Given the description of an element on the screen output the (x, y) to click on. 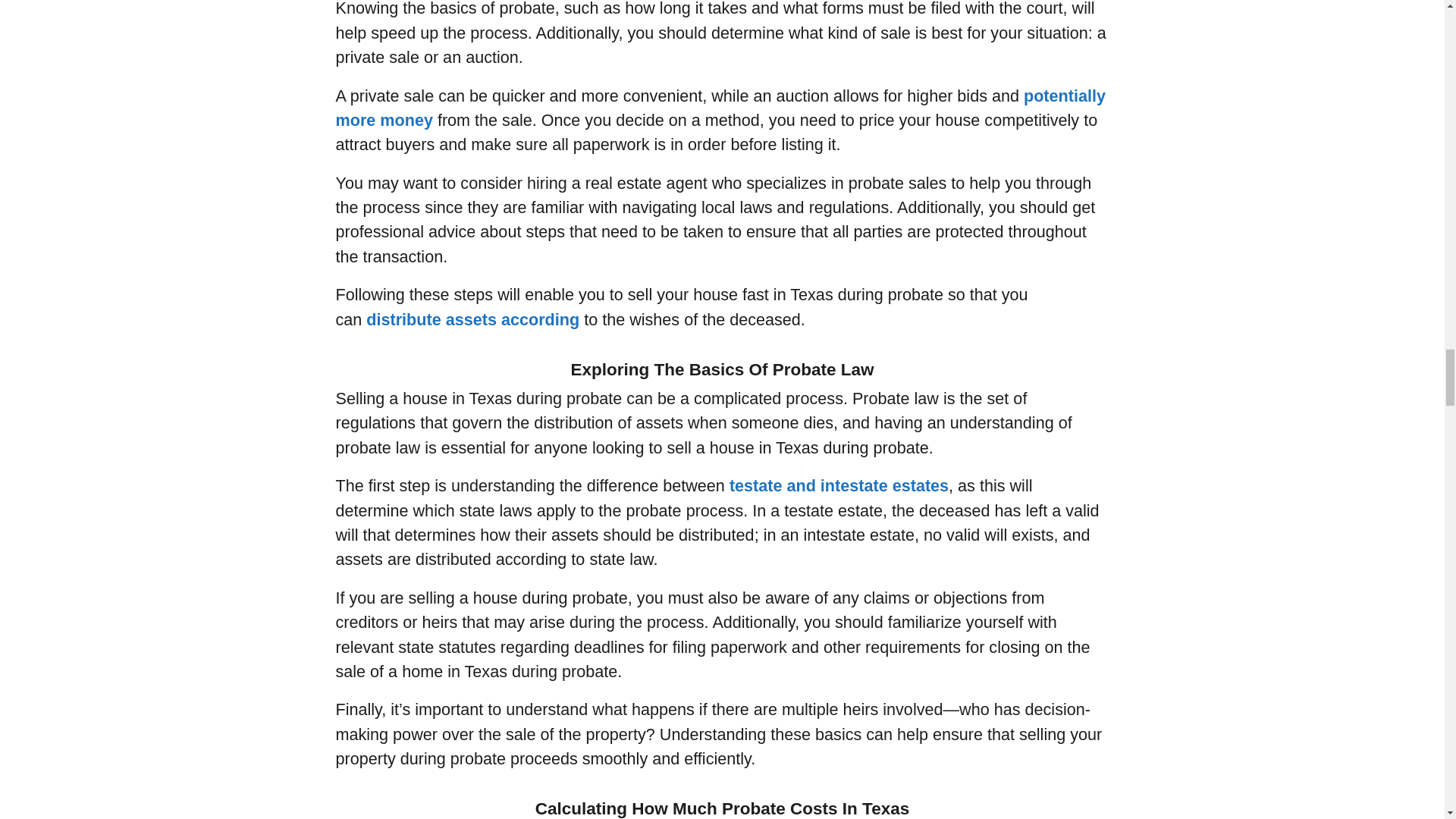
distribute assets according (472, 319)
potentially more money (719, 107)
testate and intestate estates (839, 485)
